Given the description of an element on the screen output the (x, y) to click on. 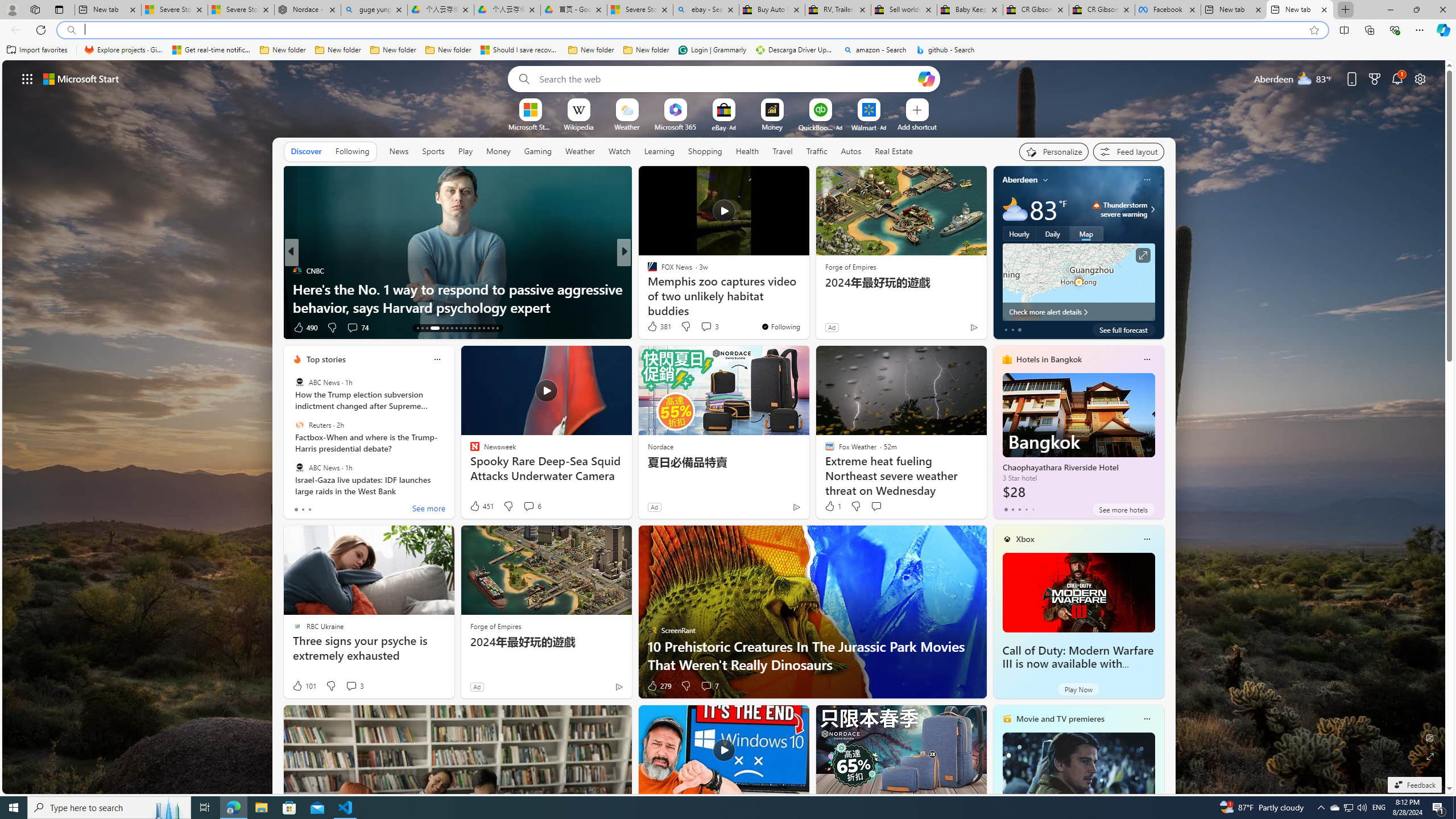
CNN Money (647, 270)
View comments 4 Comment (703, 327)
AutomationID: waffle (27, 78)
Weather (580, 151)
Forgiveness Is a Journey to Emotional Freedom (807, 307)
tab-0 (1005, 509)
Real Estate (893, 151)
guge yunpan - Search (374, 9)
The Telegraph (647, 270)
ABC News (299, 466)
